Given the description of an element on the screen output the (x, y) to click on. 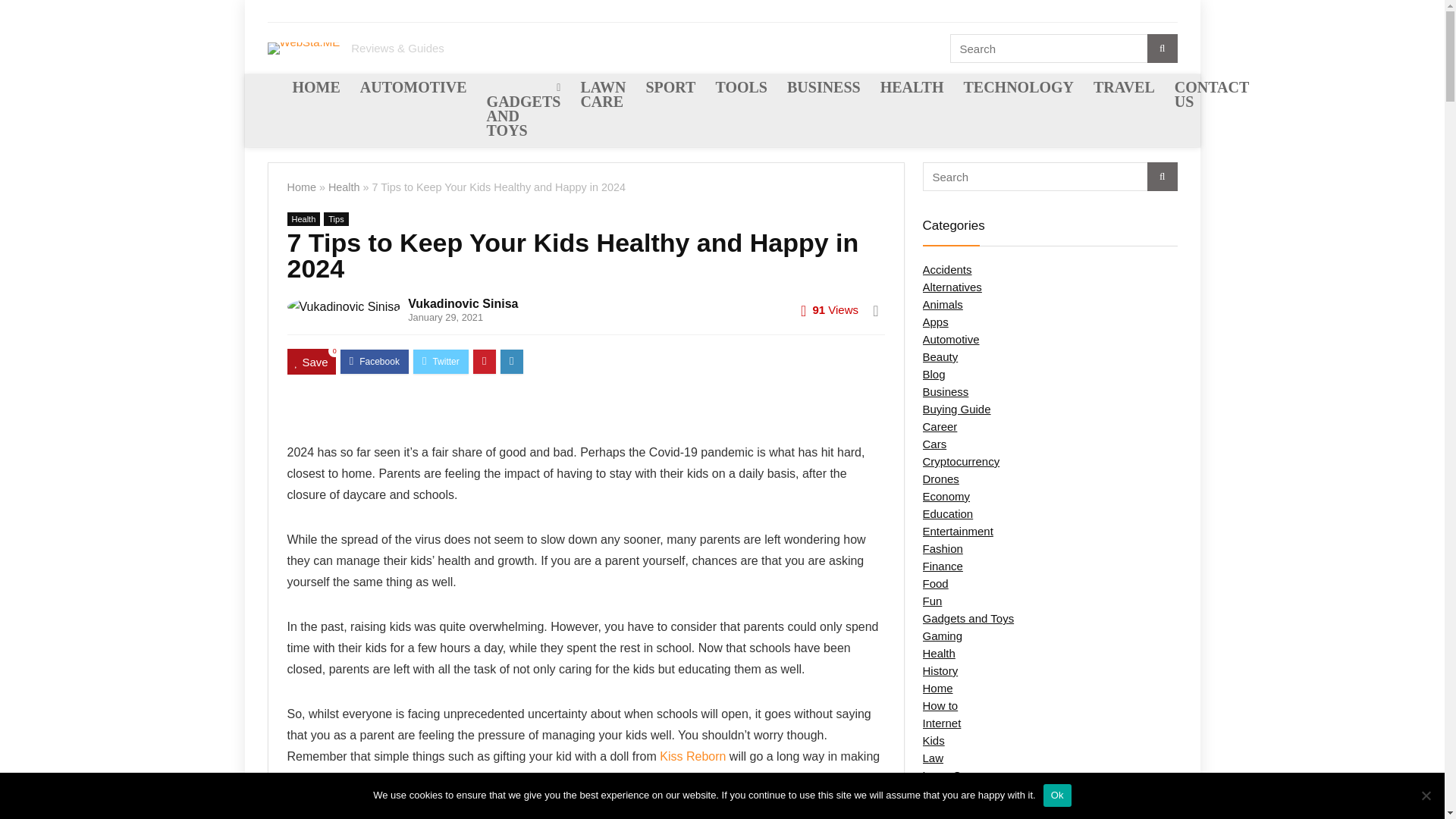
TRAVEL (1123, 88)
TOOLS (740, 88)
GADGETS AND TOYS (523, 110)
LAWN CARE (602, 95)
SPORT (669, 88)
Kiss Reborn (692, 756)
Home (300, 186)
AUTOMOTIVE (413, 88)
View all posts in Health (303, 219)
HEALTH (911, 88)
BUSINESS (823, 88)
No (1425, 795)
Vukadinovic Sinisa (462, 303)
Health (344, 186)
Health (303, 219)
